Given the description of an element on the screen output the (x, y) to click on. 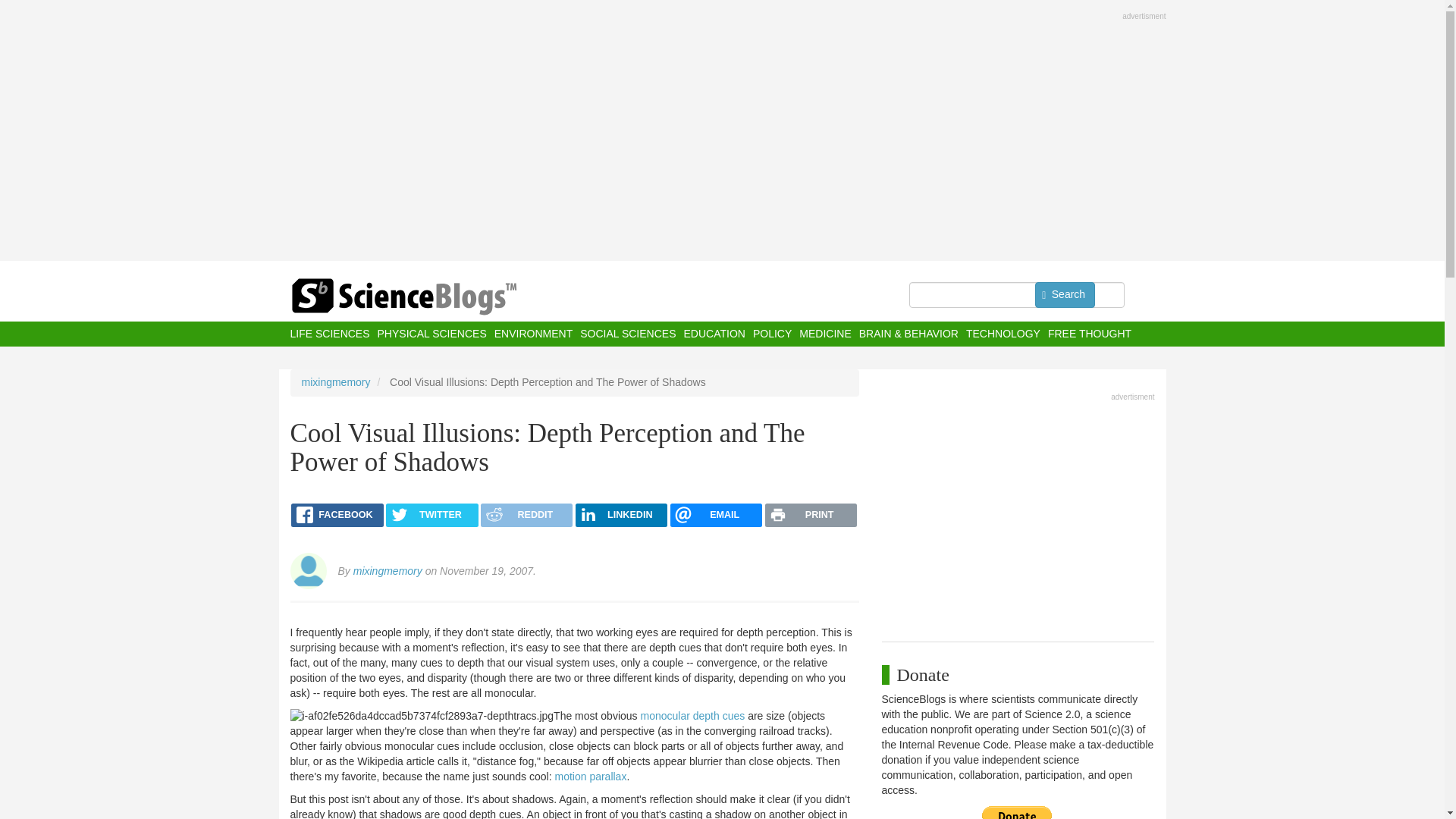
EMAIL (715, 515)
monocular depth cues (692, 715)
PayPal - The safer, easier way to pay online! (1016, 812)
FACEBOOK (336, 515)
REDDIT (526, 515)
mixingmemory (387, 571)
Advertisement (1017, 512)
EDUCATION (713, 334)
mixingmemory (336, 381)
motion parallax (590, 776)
Home (433, 296)
Search (1064, 294)
FREE THOUGHT (1089, 334)
TWITTER (431, 515)
